Given the description of an element on the screen output the (x, y) to click on. 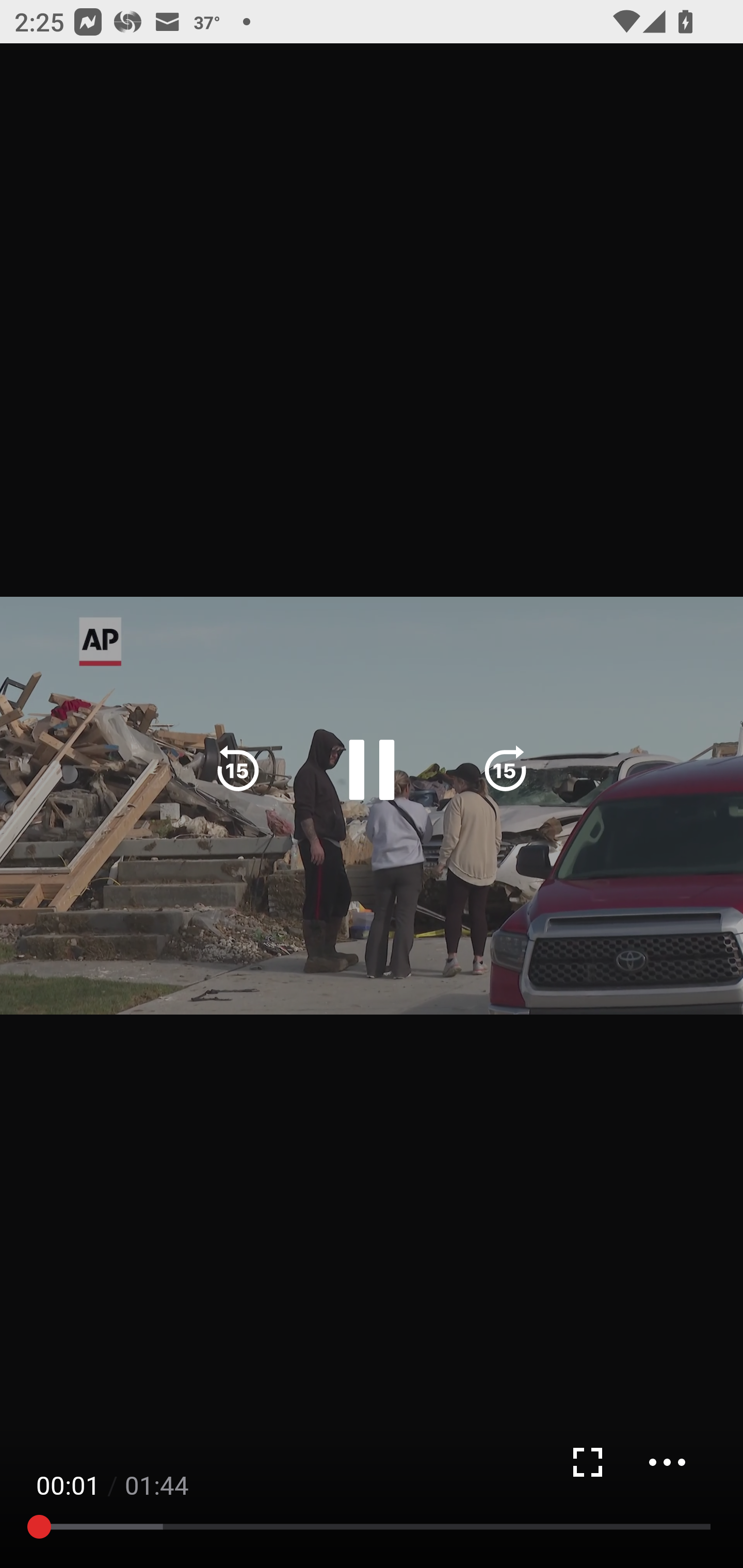
Rewind 15 seconds (238, 769)
Pause (371, 769)
fast forward 15 seconds (504, 769)
Fullscreen (587, 1462)
menu (666, 1462)
